Given the description of an element on the screen output the (x, y) to click on. 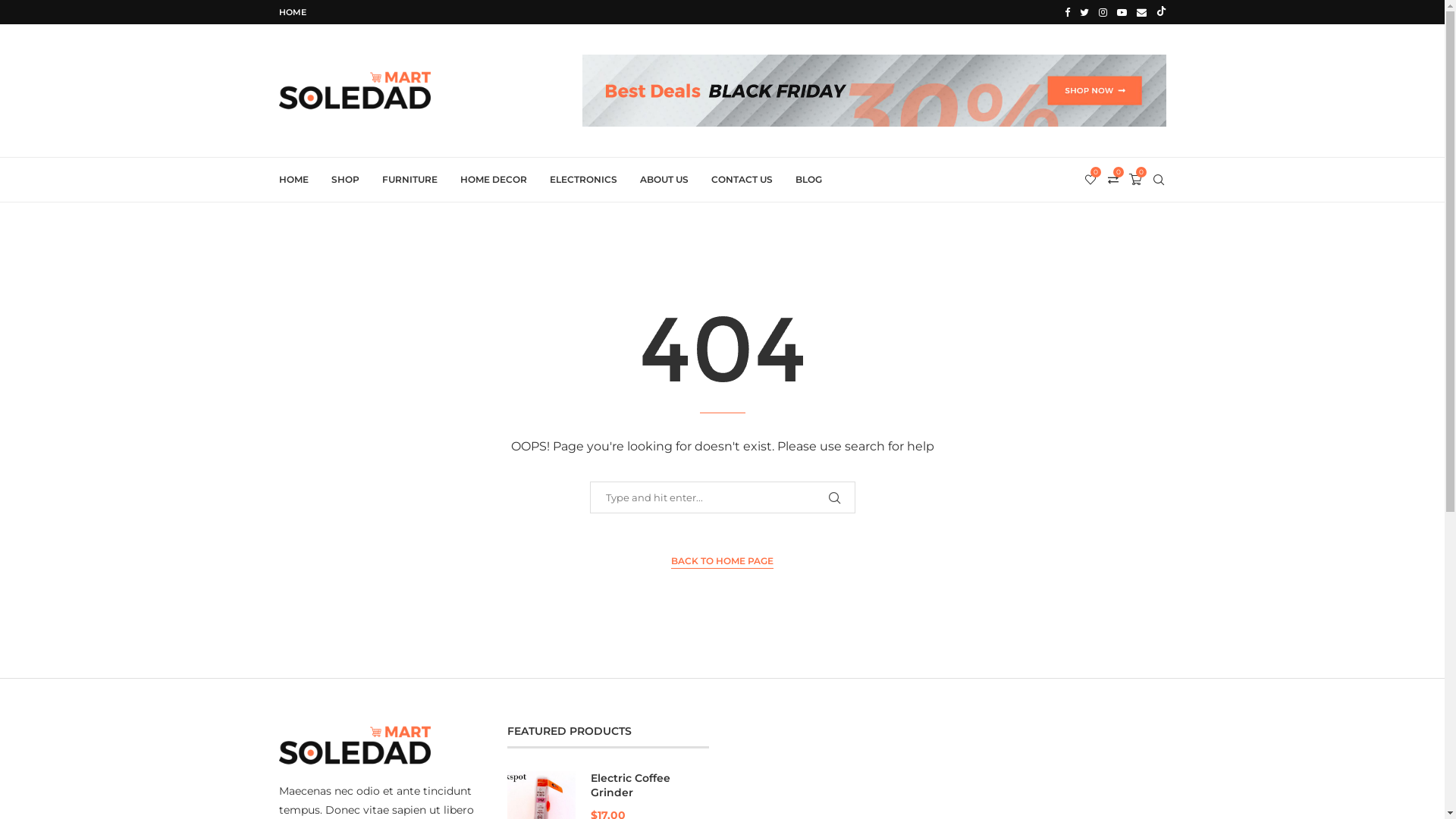
SHOP Element type: text (344, 179)
HOME DECOR Element type: text (492, 179)
Search Element type: text (36, 15)
BLOG Element type: text (807, 179)
BACK TO HOME PAGE Element type: text (722, 561)
HOME Element type: text (292, 12)
CONTACT US Element type: text (741, 179)
ABOUT US Element type: text (664, 179)
ELECTRONICS Element type: text (582, 179)
FURNITURE Element type: text (409, 179)
Electric Coffee Grinder Element type: text (608, 785)
HOME Element type: text (293, 179)
0 Element type: text (1135, 179)
0 Element type: text (1112, 179)
0 Element type: text (1090, 179)
